Given the description of an element on the screen output the (x, y) to click on. 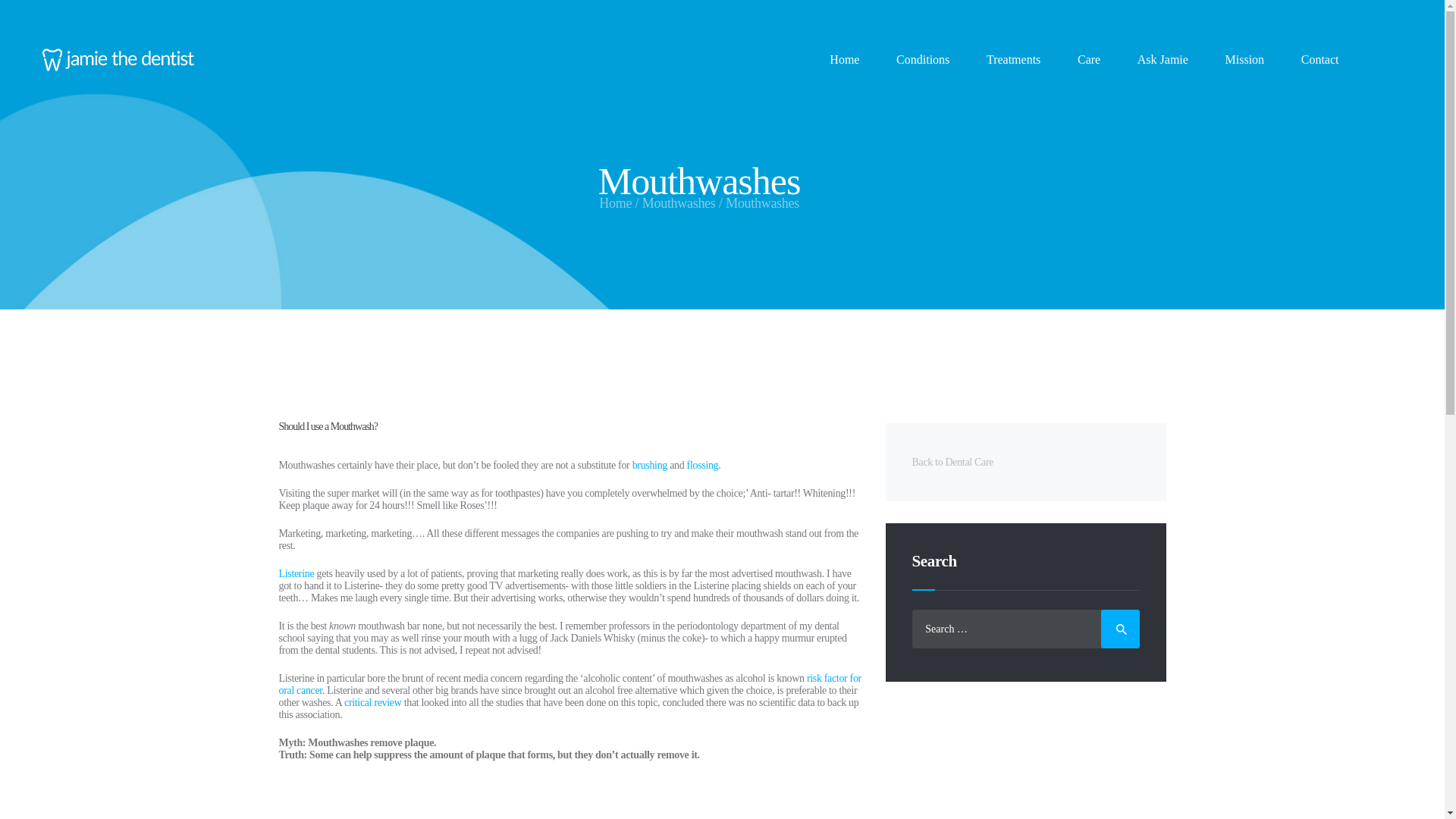
Treatments (1013, 59)
Home (843, 59)
Conditions (922, 59)
Search (1120, 628)
Search (1120, 628)
